Given the description of an element on the screen output the (x, y) to click on. 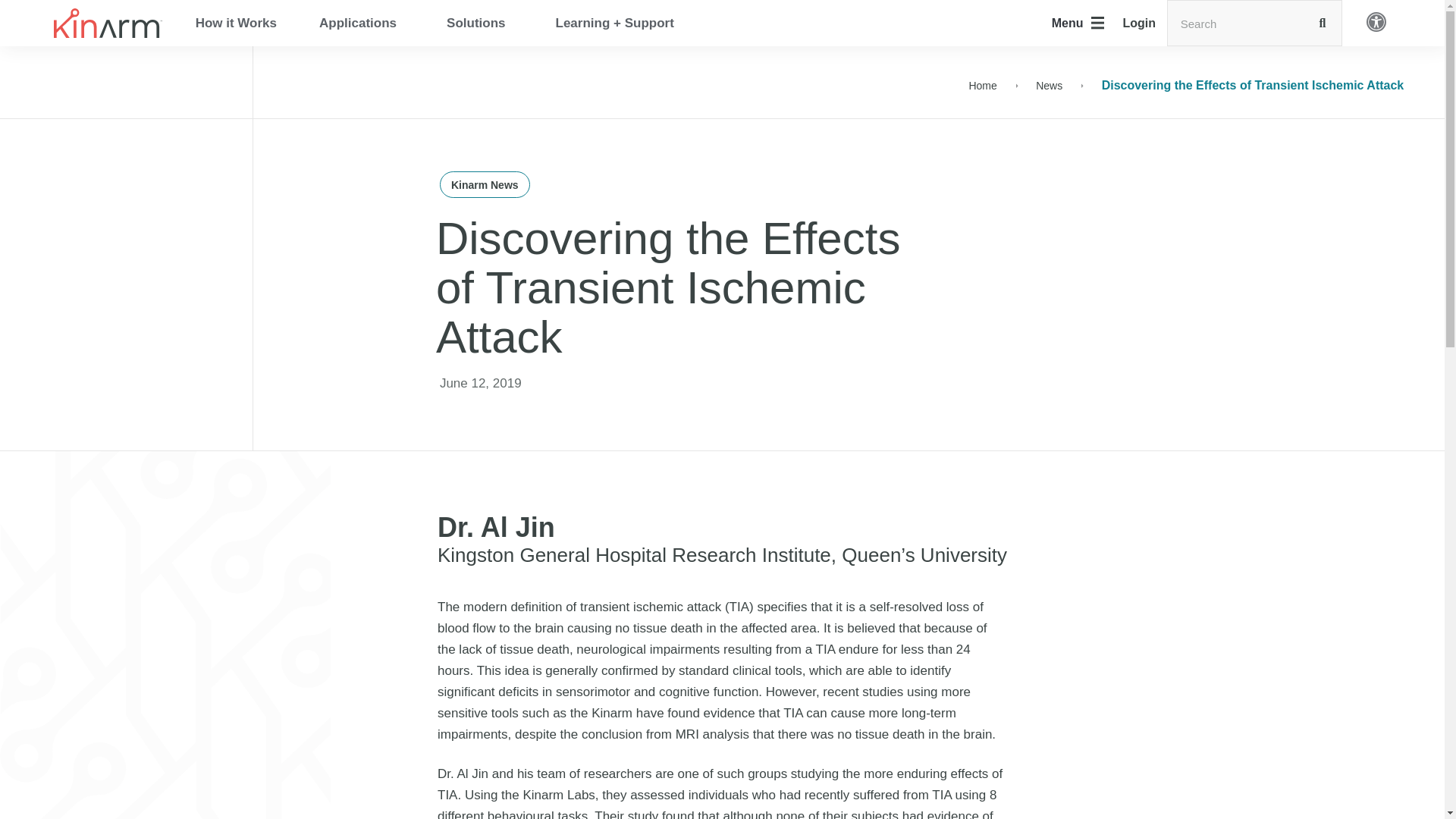
Applications (361, 22)
Solutions (479, 22)
How it Works (236, 22)
